Given the description of an element on the screen output the (x, y) to click on. 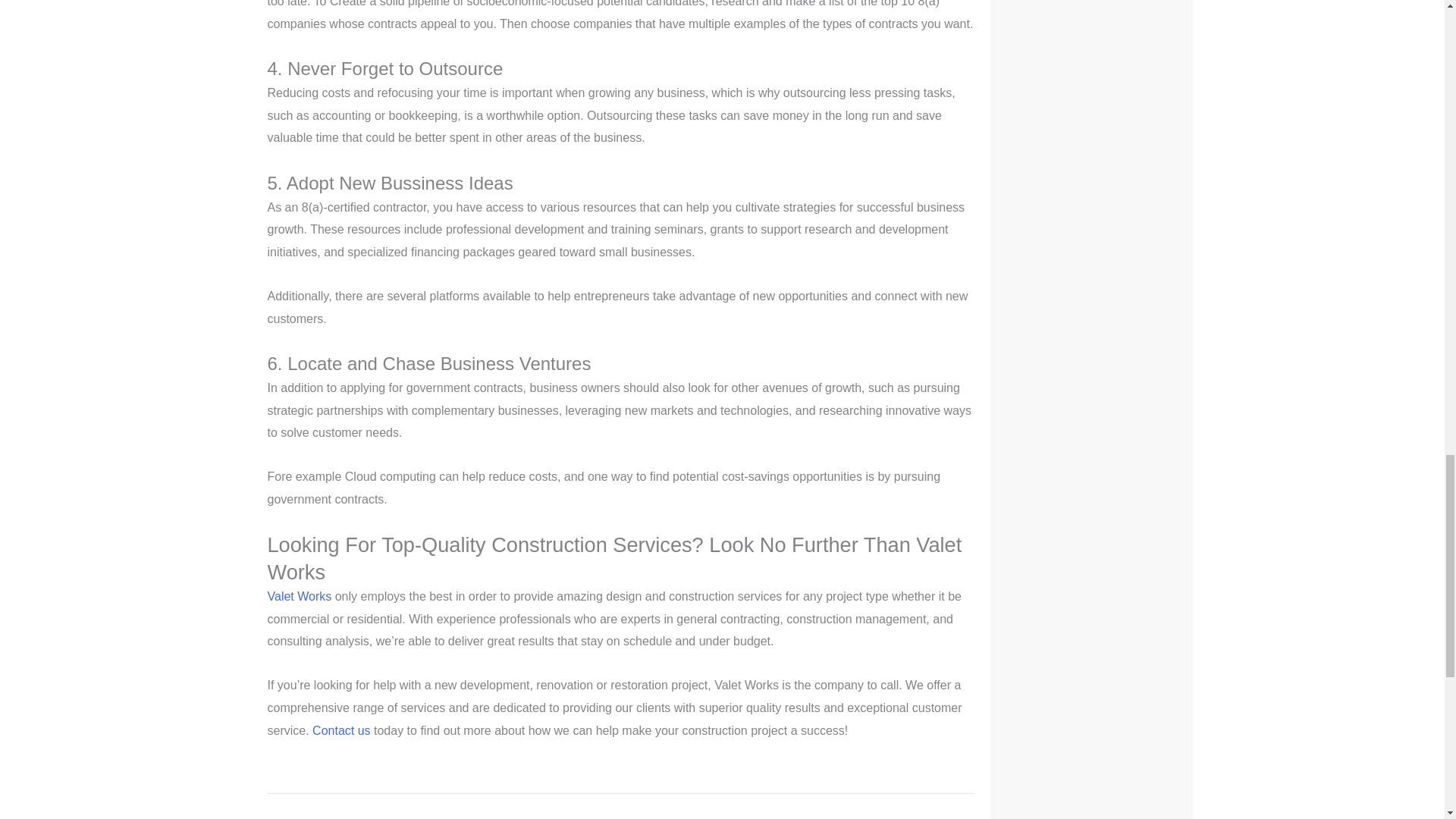
Contact us (341, 730)
Valet Works (298, 595)
